Given the description of an element on the screen output the (x, y) to click on. 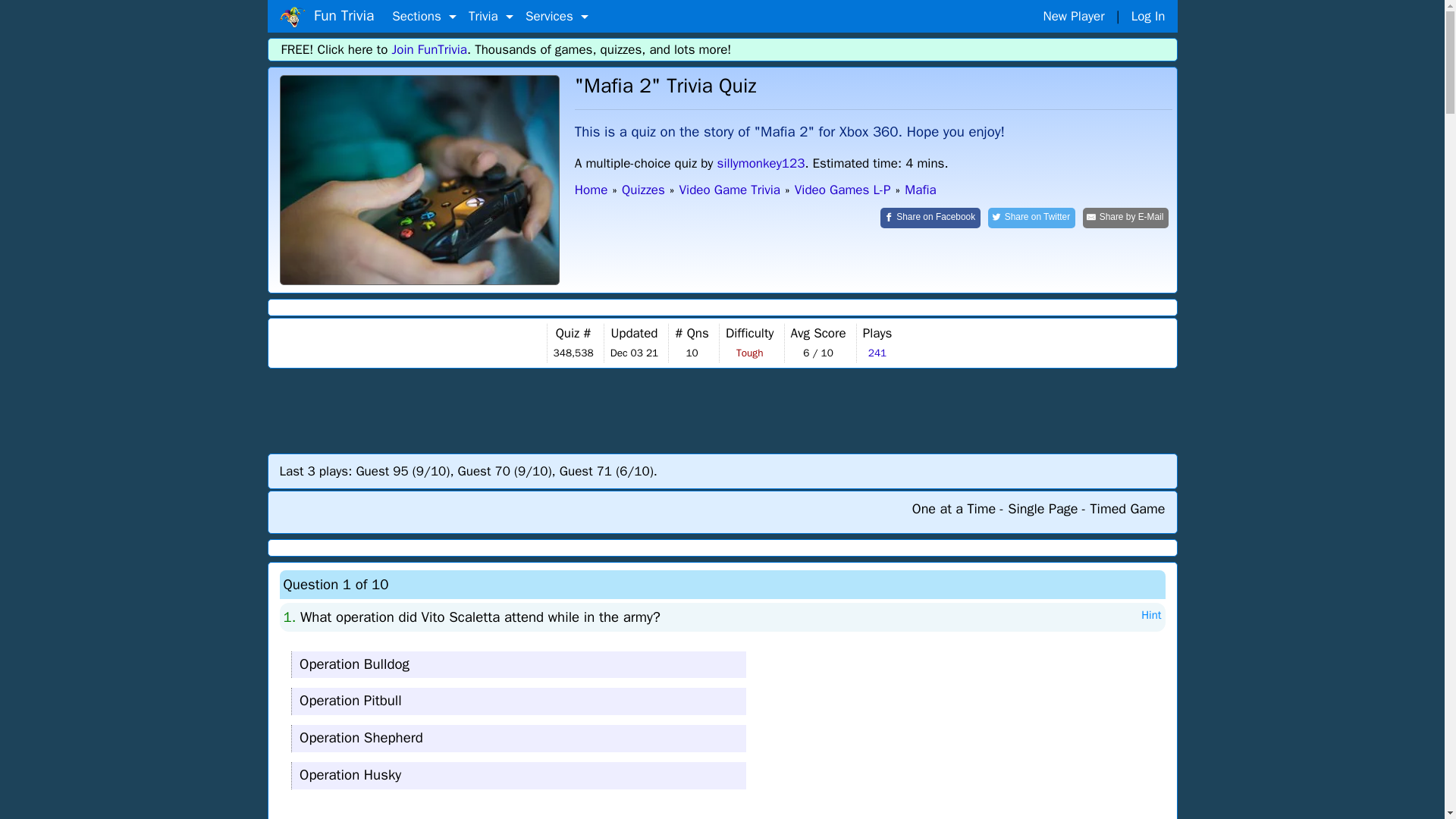
Home (291, 16)
Trivia (491, 16)
  Fun Trivia (326, 15)
Services (556, 16)
Advertisement (722, 409)
Fun Trivia (419, 180)
Sections (424, 16)
